Given the description of an element on the screen output the (x, y) to click on. 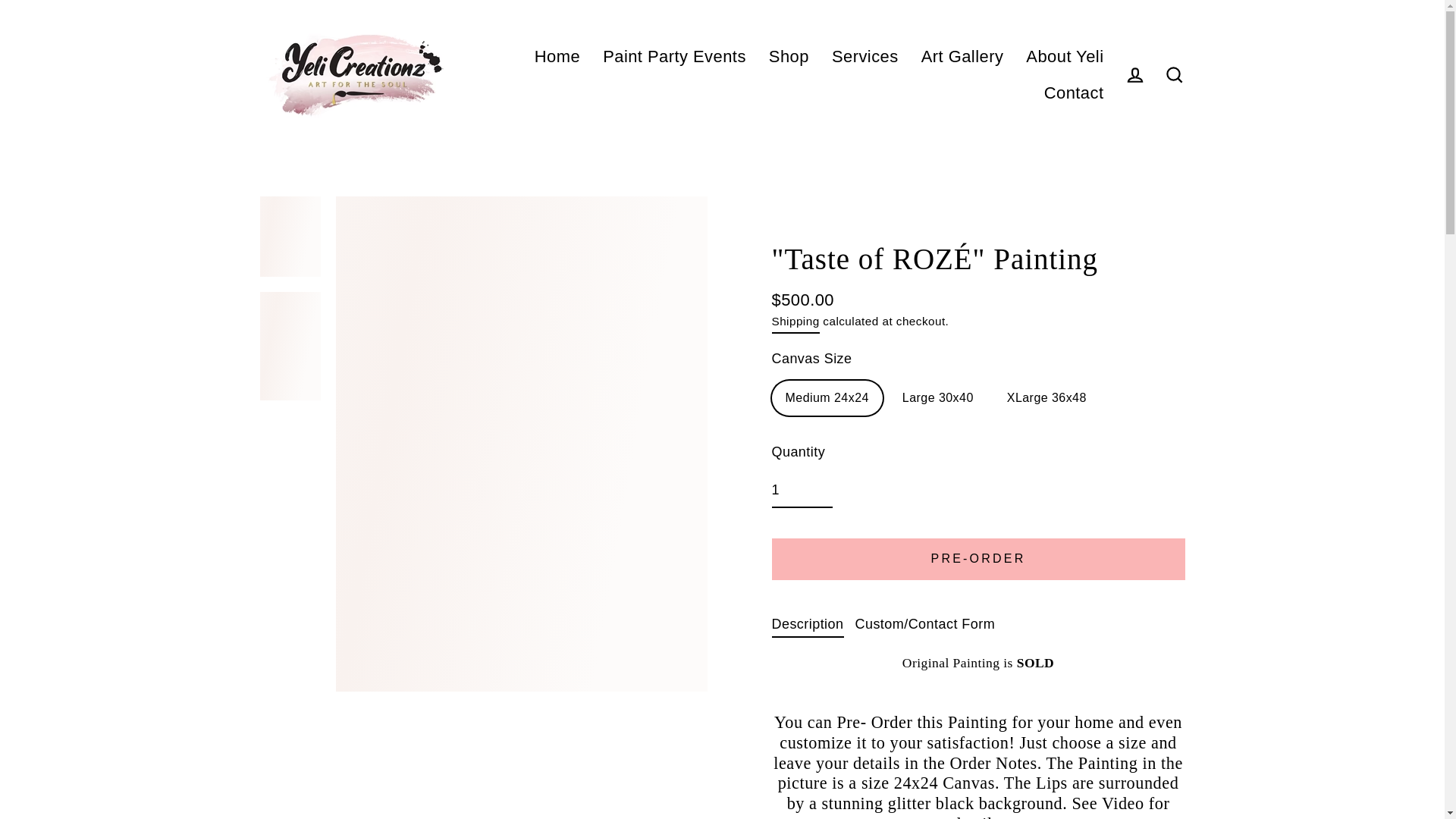
Search (1173, 74)
Paint Party Events (674, 56)
Contact (1073, 93)
About Yeli (1064, 56)
Services (865, 56)
1 (801, 490)
Shop (789, 56)
